Given the description of an element on the screen output the (x, y) to click on. 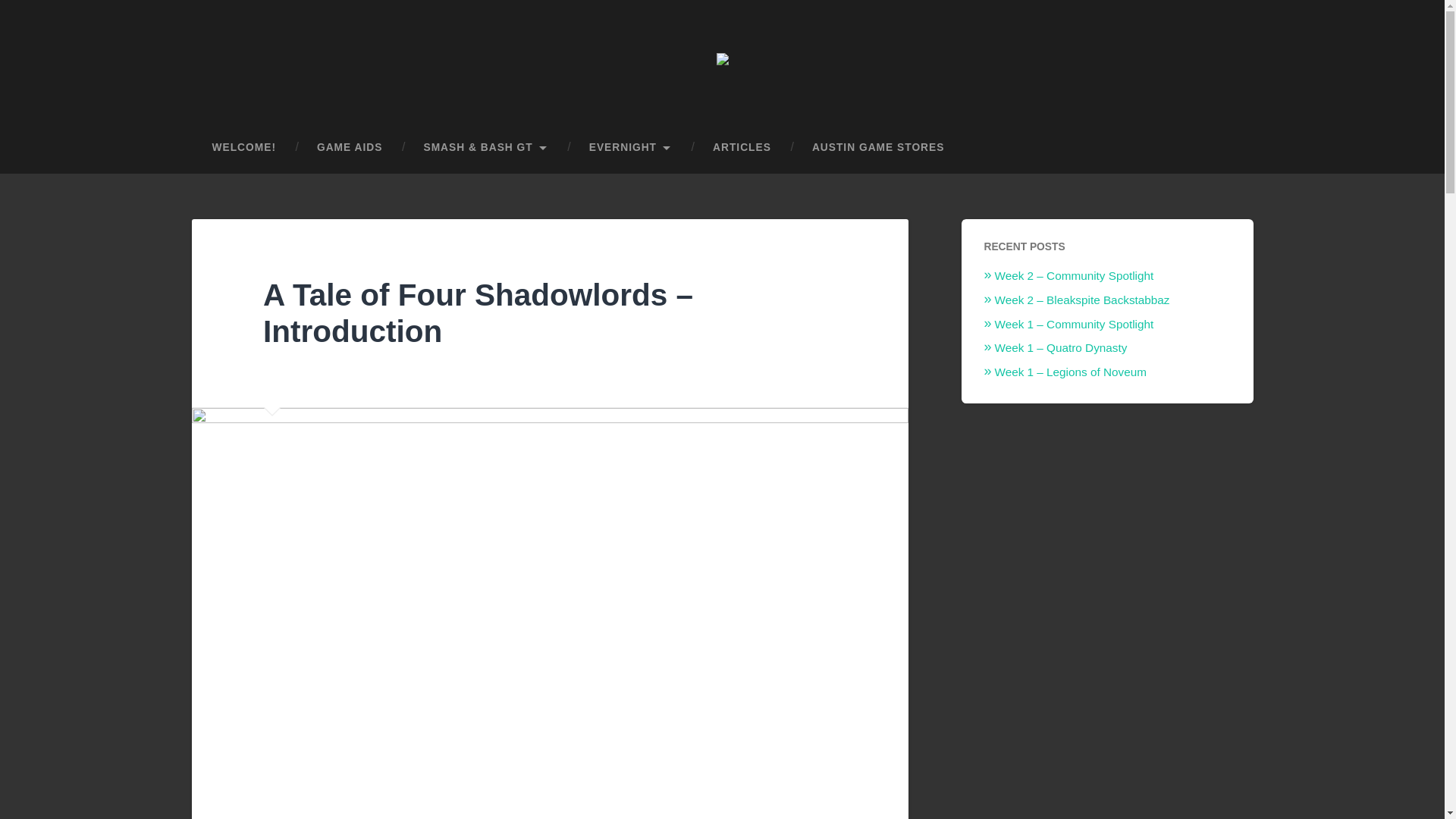
WELCOME! (242, 147)
AUSTIN GAME STORES (878, 147)
EVERNIGHT (631, 147)
GAME AIDS (350, 147)
ARTICLES (742, 147)
